Given the description of an element on the screen output the (x, y) to click on. 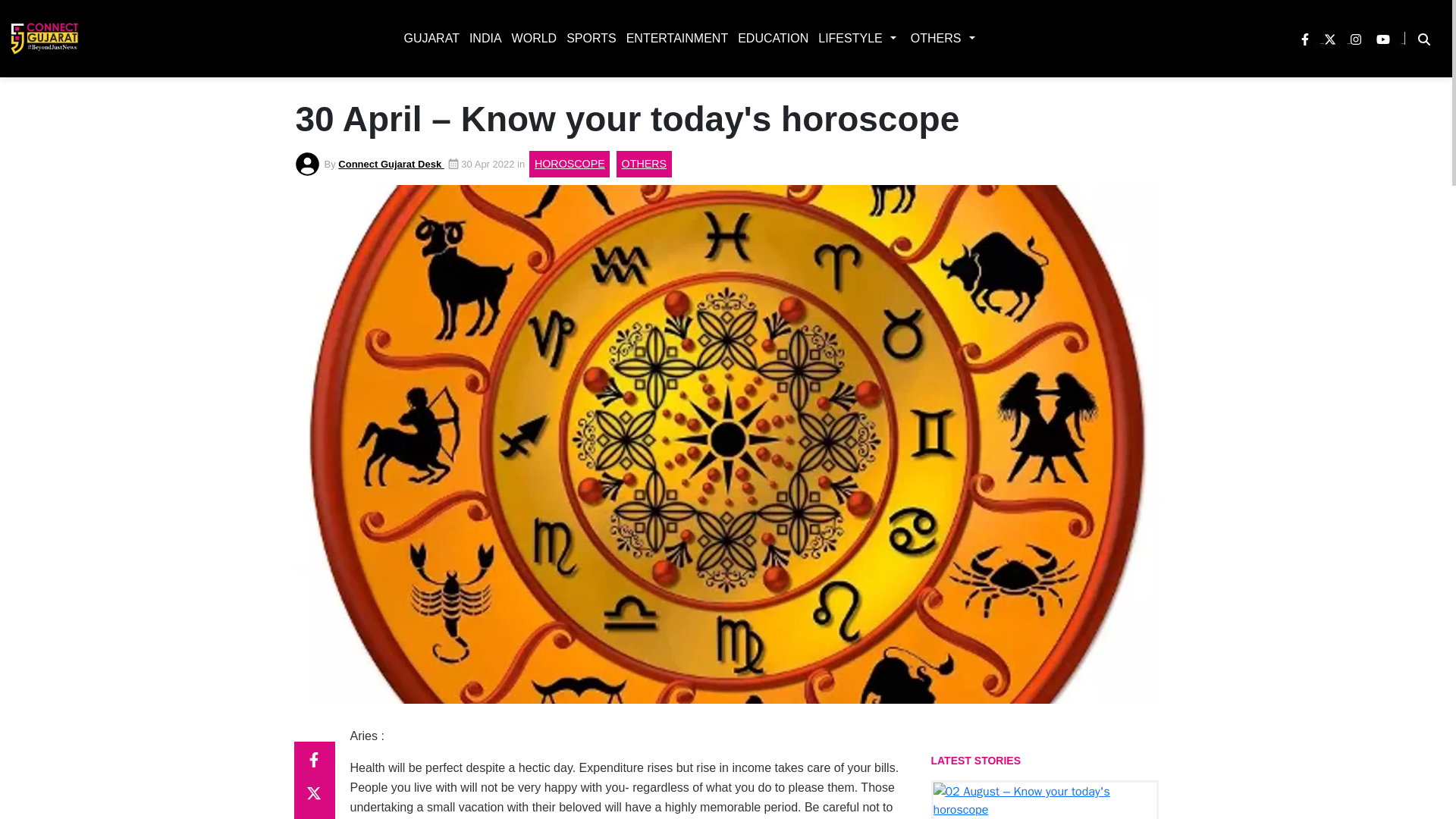
LIFESTYLE (847, 38)
EDUCATION (770, 38)
GUJARAT (427, 38)
ENTERTAINMENT (674, 38)
